Given the description of an element on the screen output the (x, y) to click on. 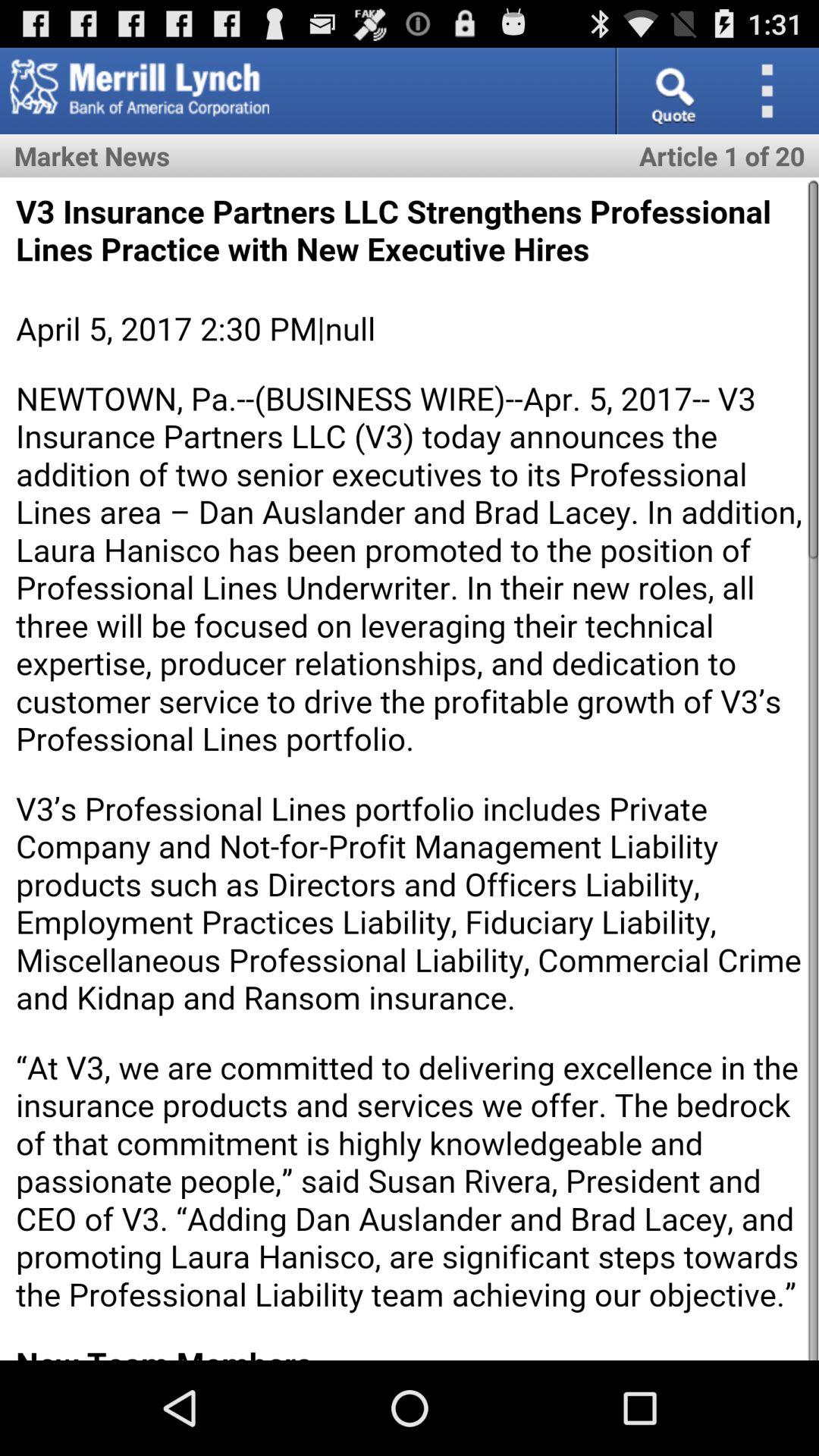
opens magnifying tool (671, 90)
